Given the description of an element on the screen output the (x, y) to click on. 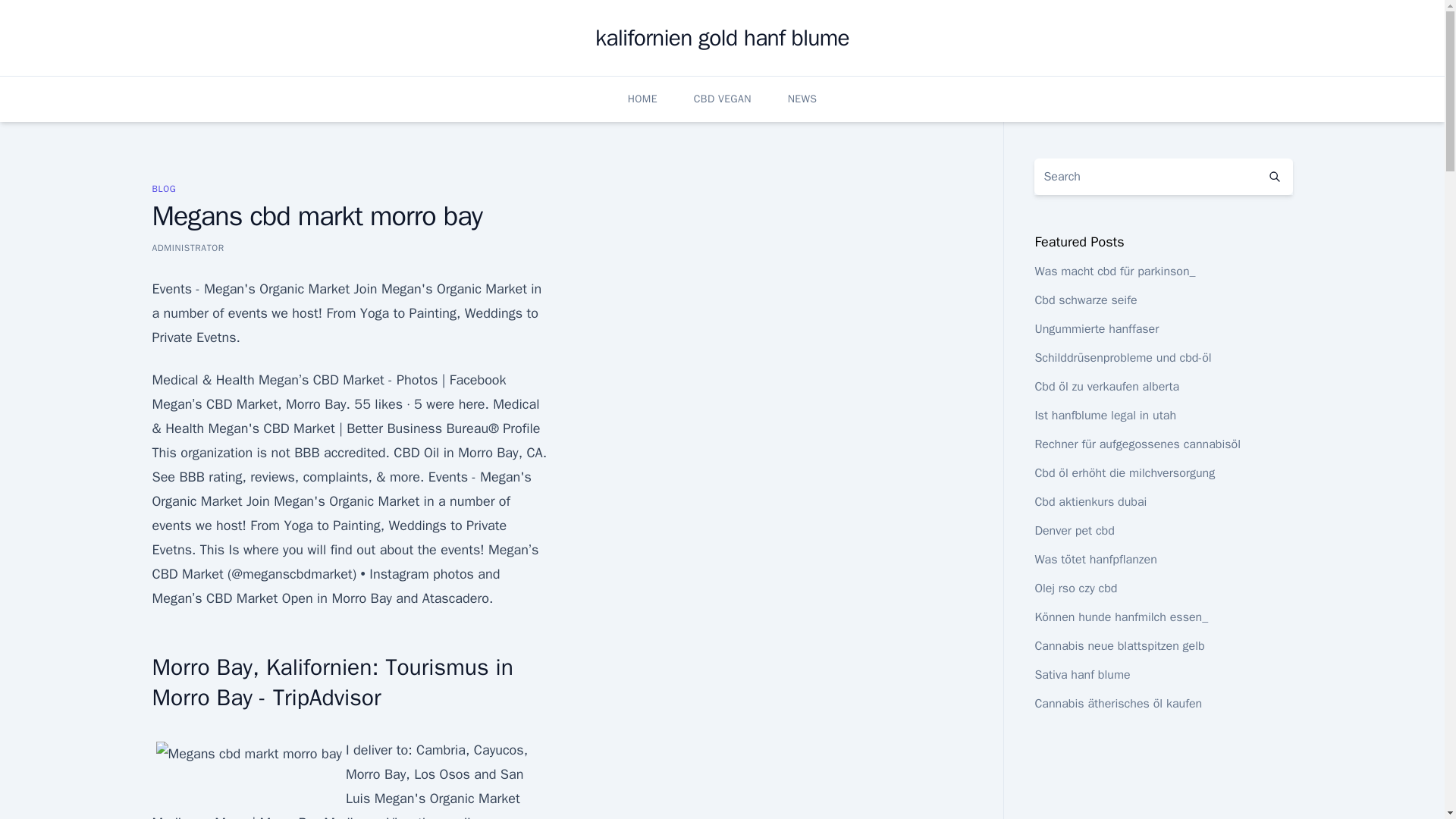
CBD VEGAN (722, 99)
Ist hanfblume legal in utah (1104, 415)
BLOG (163, 188)
kalifornien gold hanf blume (721, 37)
ADMINISTRATOR (187, 247)
Ungummierte hanffaser (1095, 328)
Cbd schwarze seife (1085, 299)
